Given the description of an element on the screen output the (x, y) to click on. 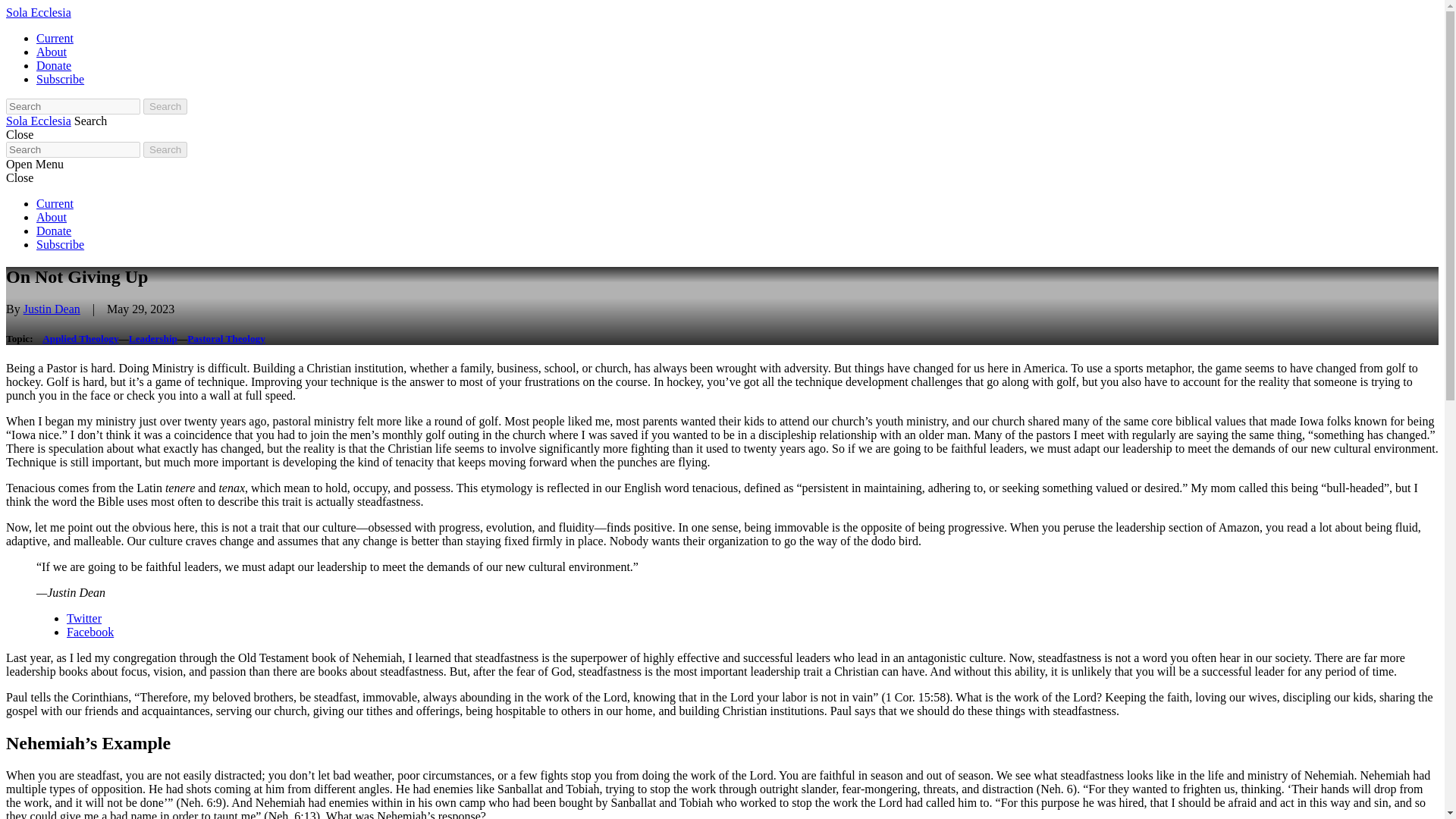
Search (164, 149)
Search (90, 120)
Open Menu (34, 164)
Close (19, 133)
Subscribe (60, 244)
Pastoral Theology (225, 337)
Sola Ecclesia (38, 120)
Search (164, 106)
Applied Theology (79, 337)
Current (55, 203)
